Given the description of an element on the screen output the (x, y) to click on. 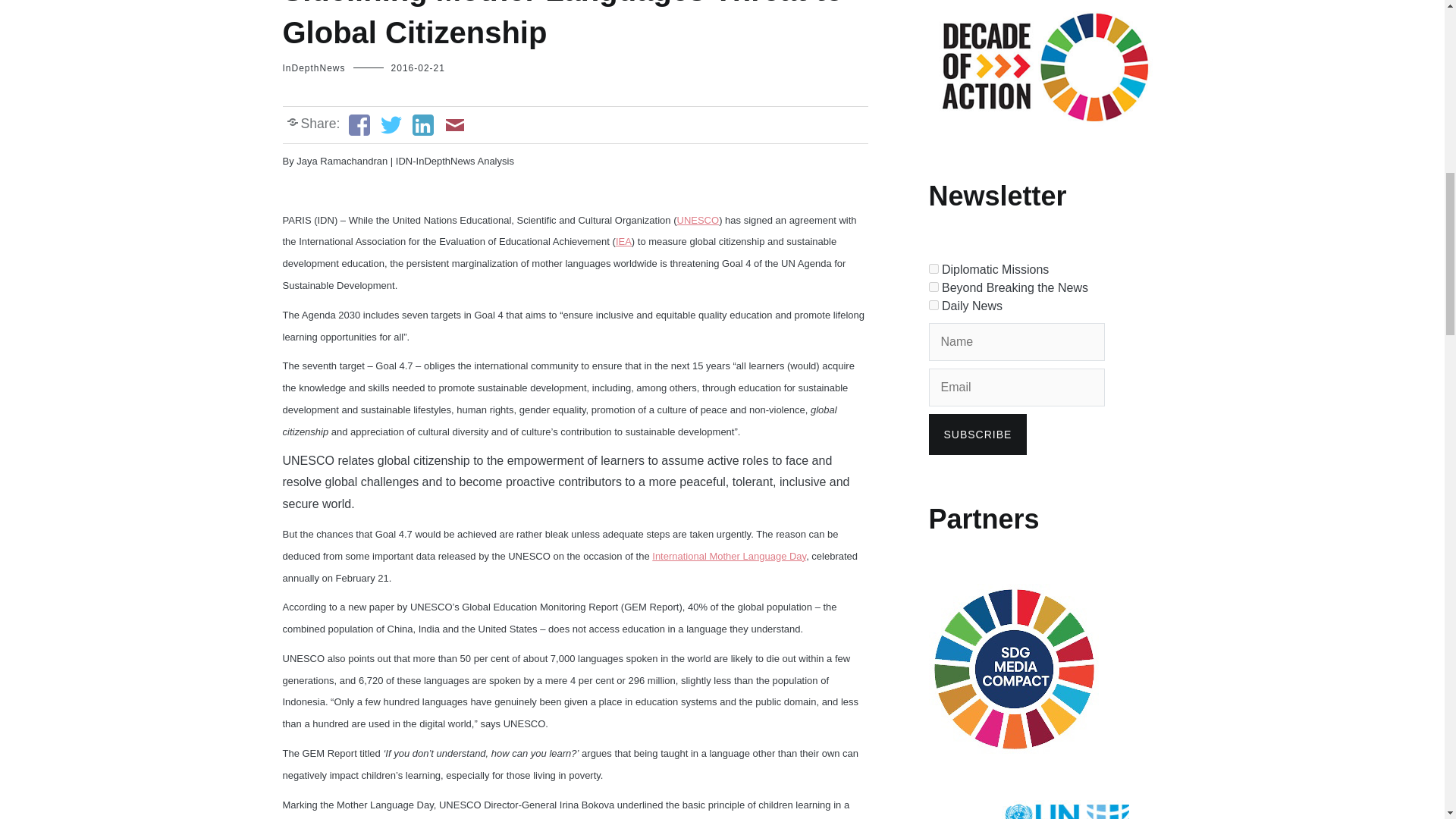
Subscribe (977, 434)
8 (932, 268)
9 (932, 286)
10 (932, 305)
